Given the description of an element on the screen output the (x, y) to click on. 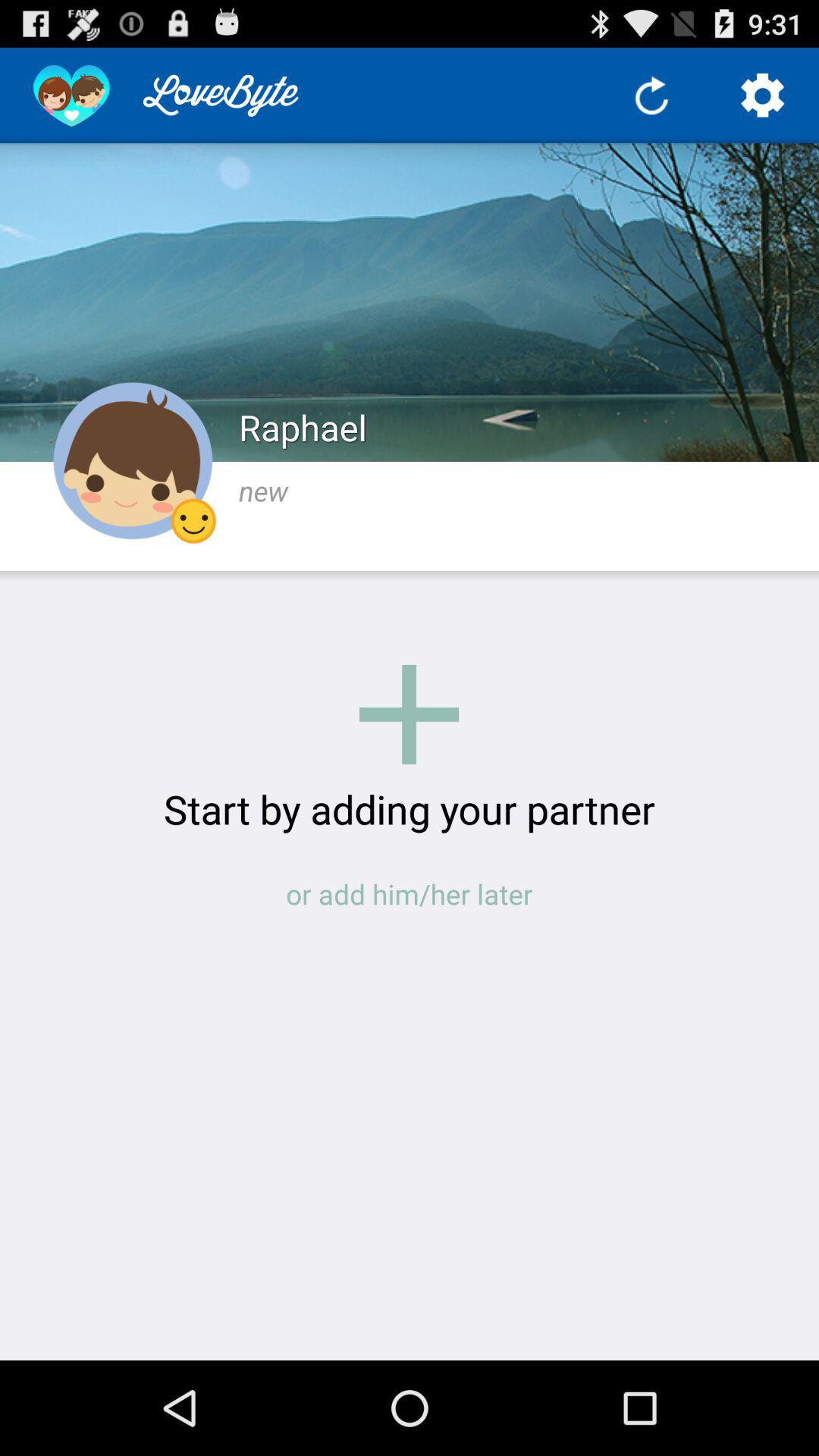
launch or add him (409, 893)
